Given the description of an element on the screen output the (x, y) to click on. 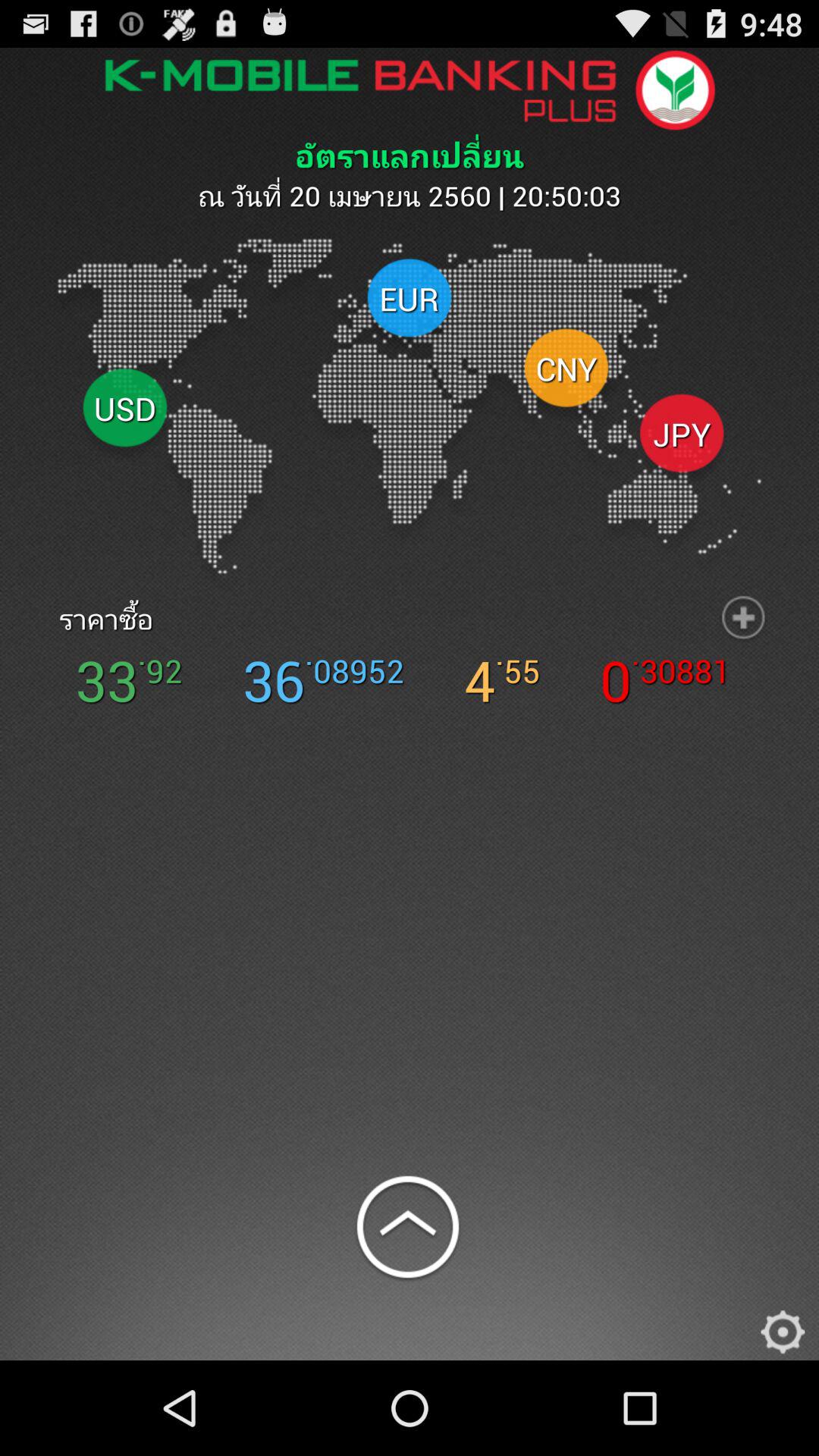
select the icon above the 33 icon (96, 618)
